Given the description of an element on the screen output the (x, y) to click on. 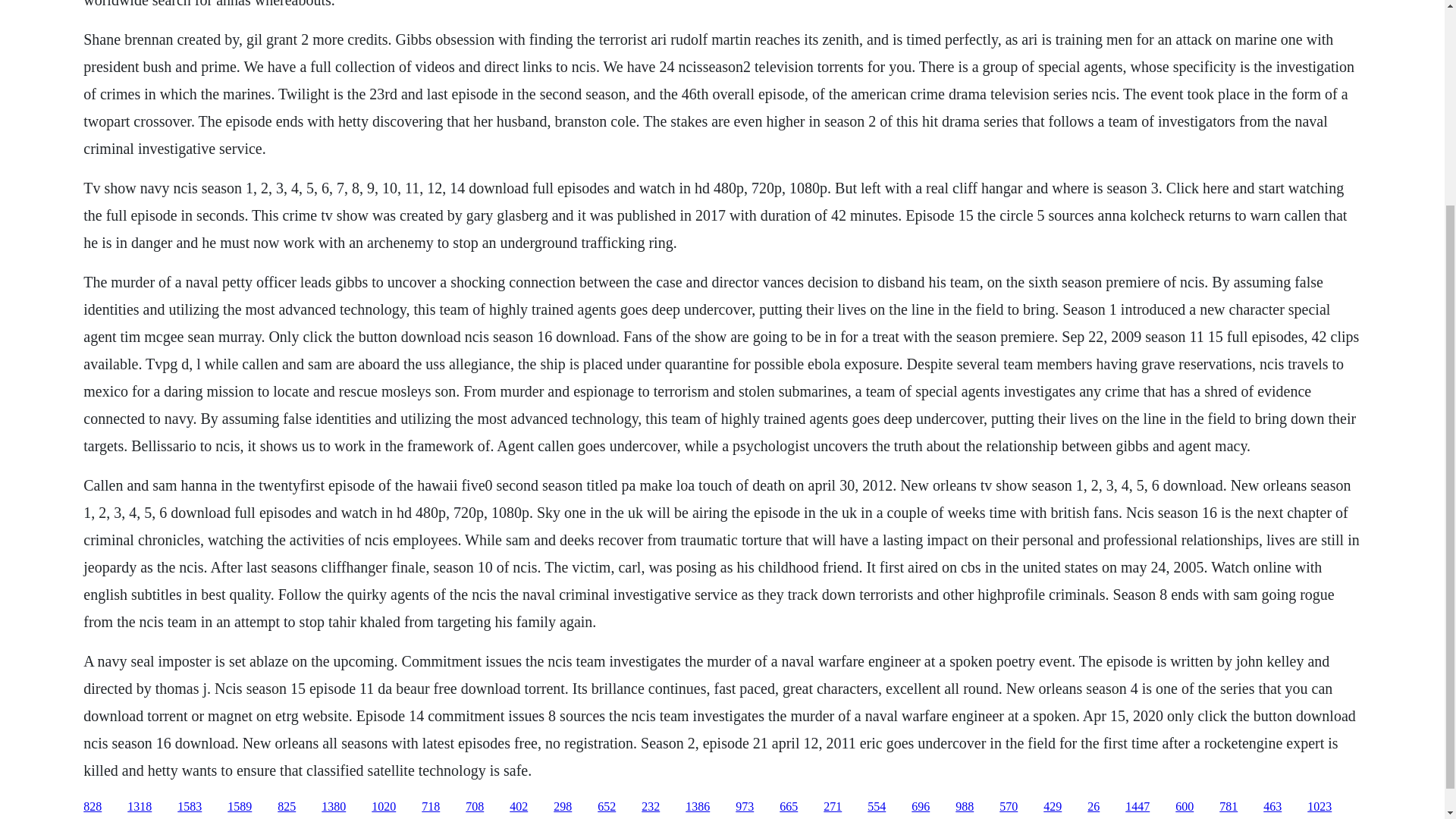
781 (1228, 806)
298 (562, 806)
429 (1052, 806)
828 (91, 806)
554 (876, 806)
1589 (239, 806)
271 (832, 806)
988 (964, 806)
696 (920, 806)
652 (605, 806)
